Given the description of an element on the screen output the (x, y) to click on. 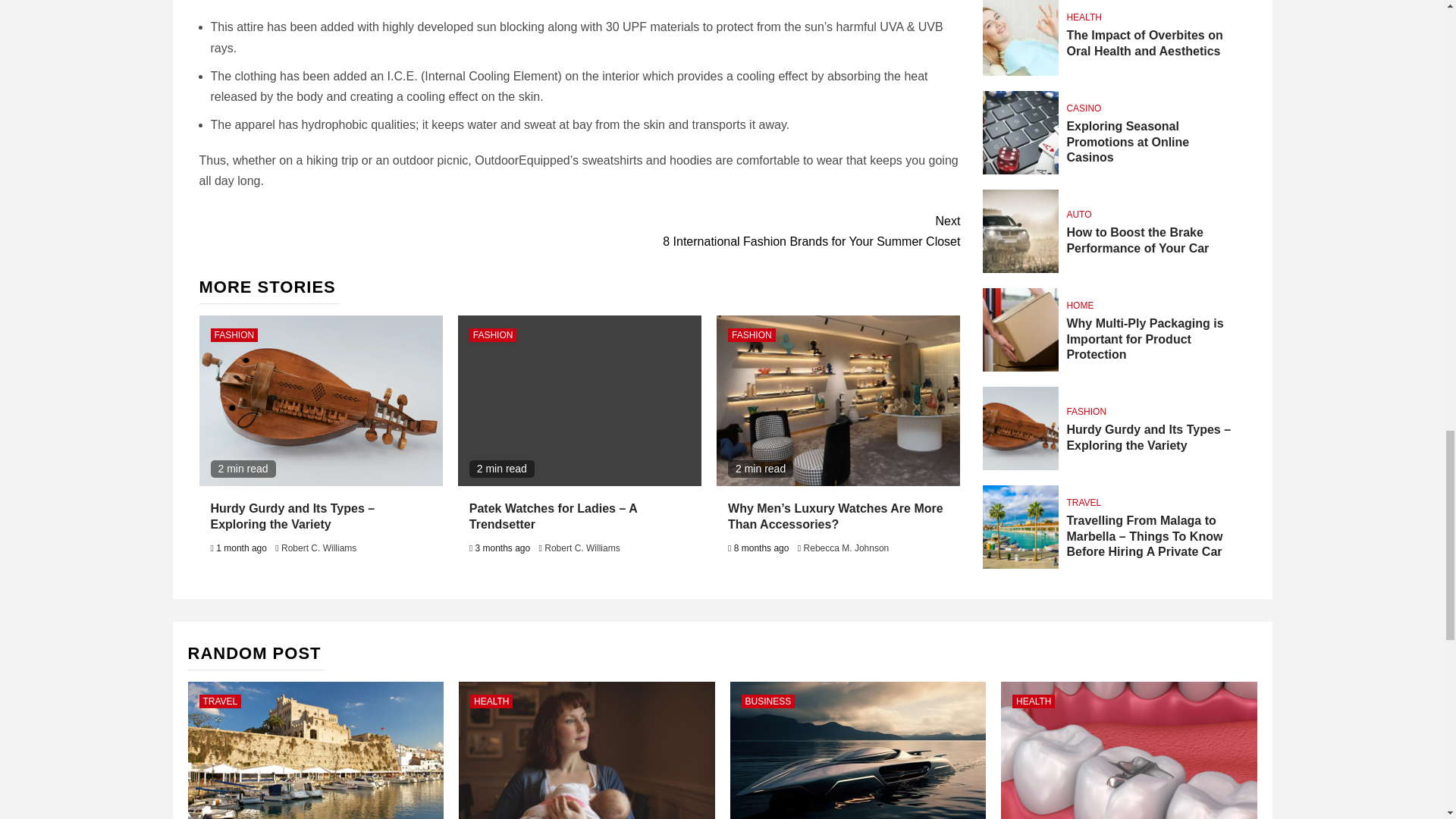
Robert C. Williams (318, 547)
FASHION (235, 335)
Robert C. Williams (769, 230)
FASHION (582, 547)
FASHION (492, 335)
Rebecca M. Johnson (752, 335)
